Given the description of an element on the screen output the (x, y) to click on. 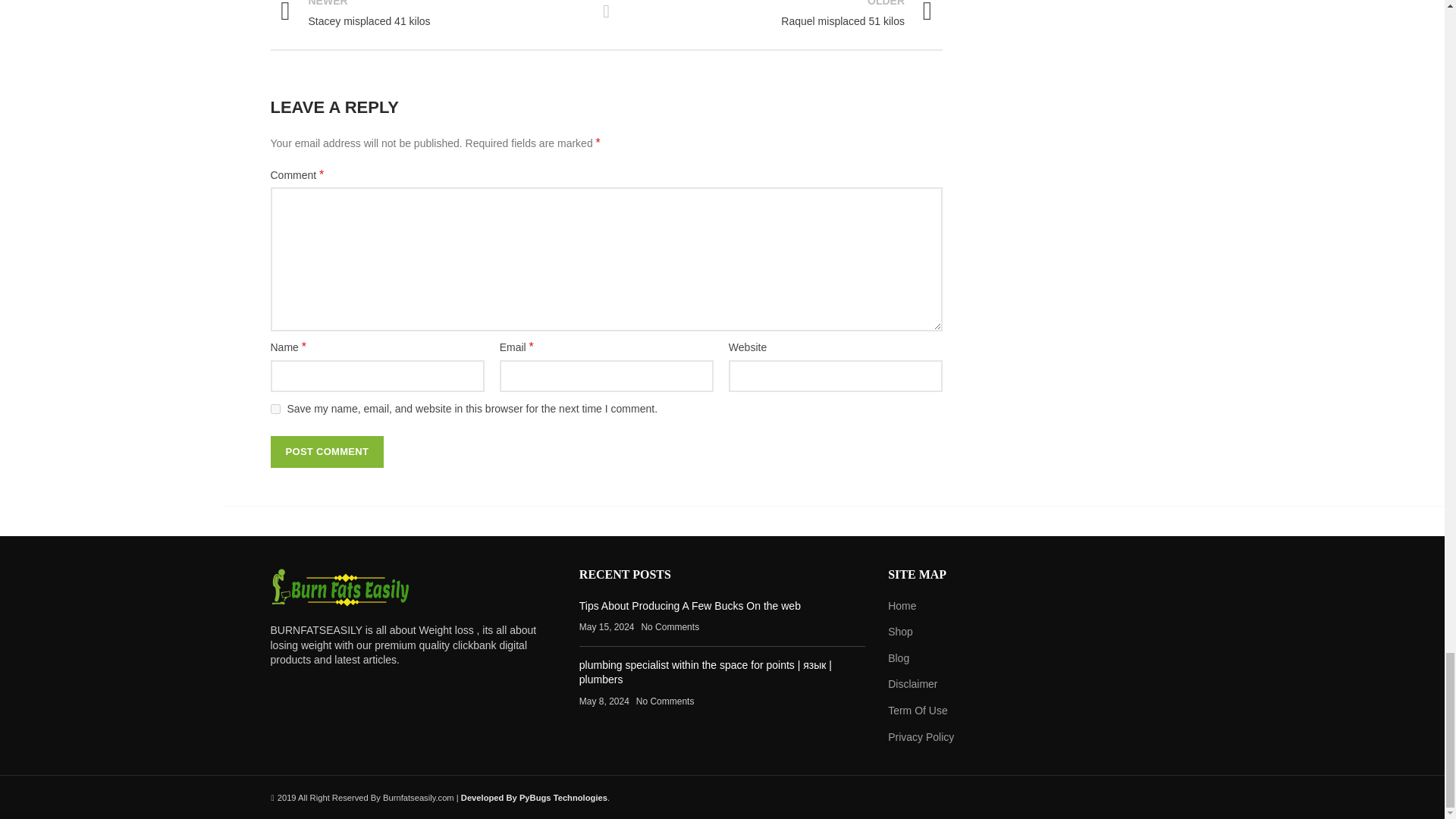
yes (274, 409)
Back to list (606, 11)
Post Comment (779, 15)
Post Comment (431, 15)
